Given the description of an element on the screen output the (x, y) to click on. 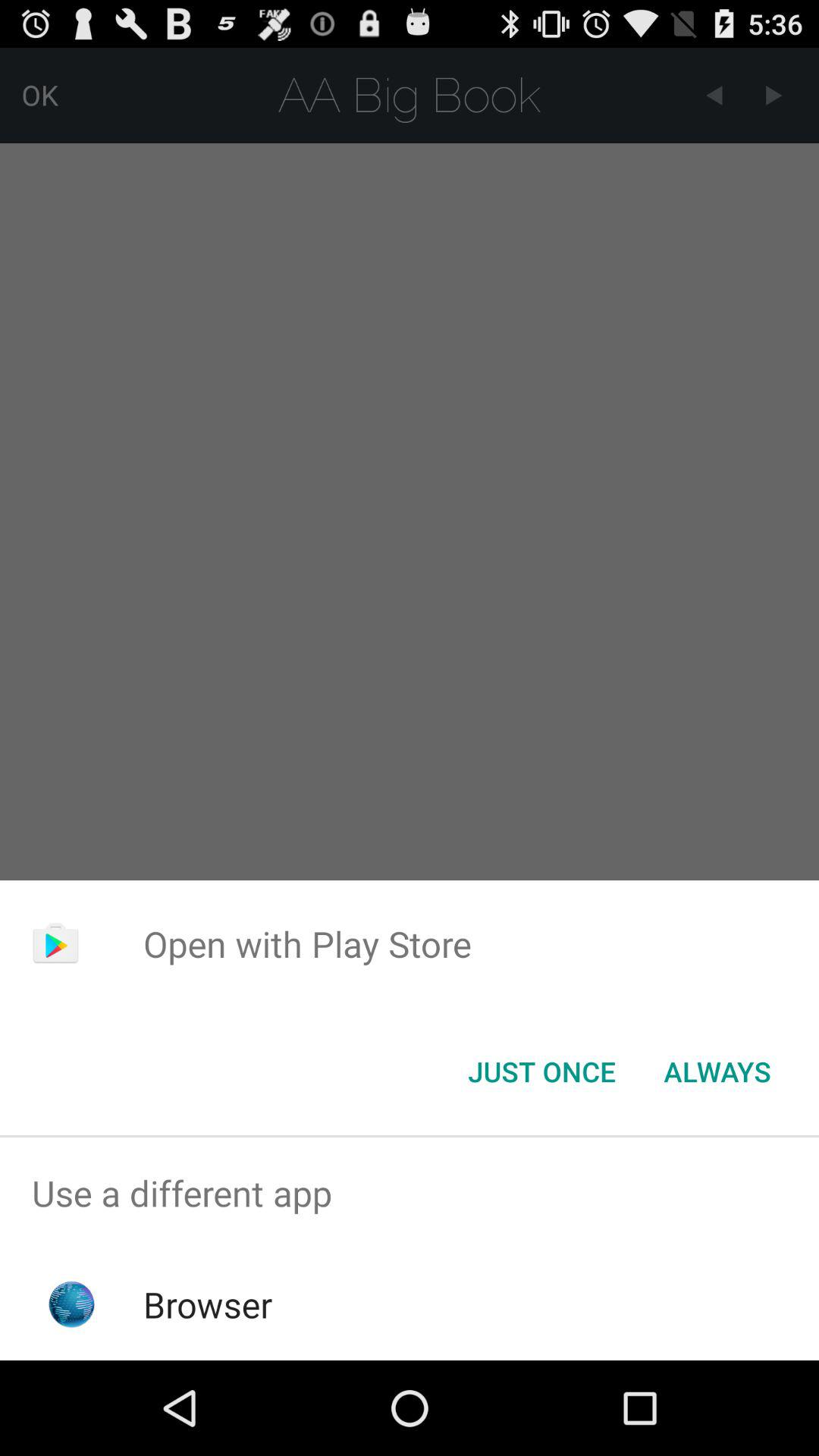
open the always button (717, 1071)
